Given the description of an element on the screen output the (x, y) to click on. 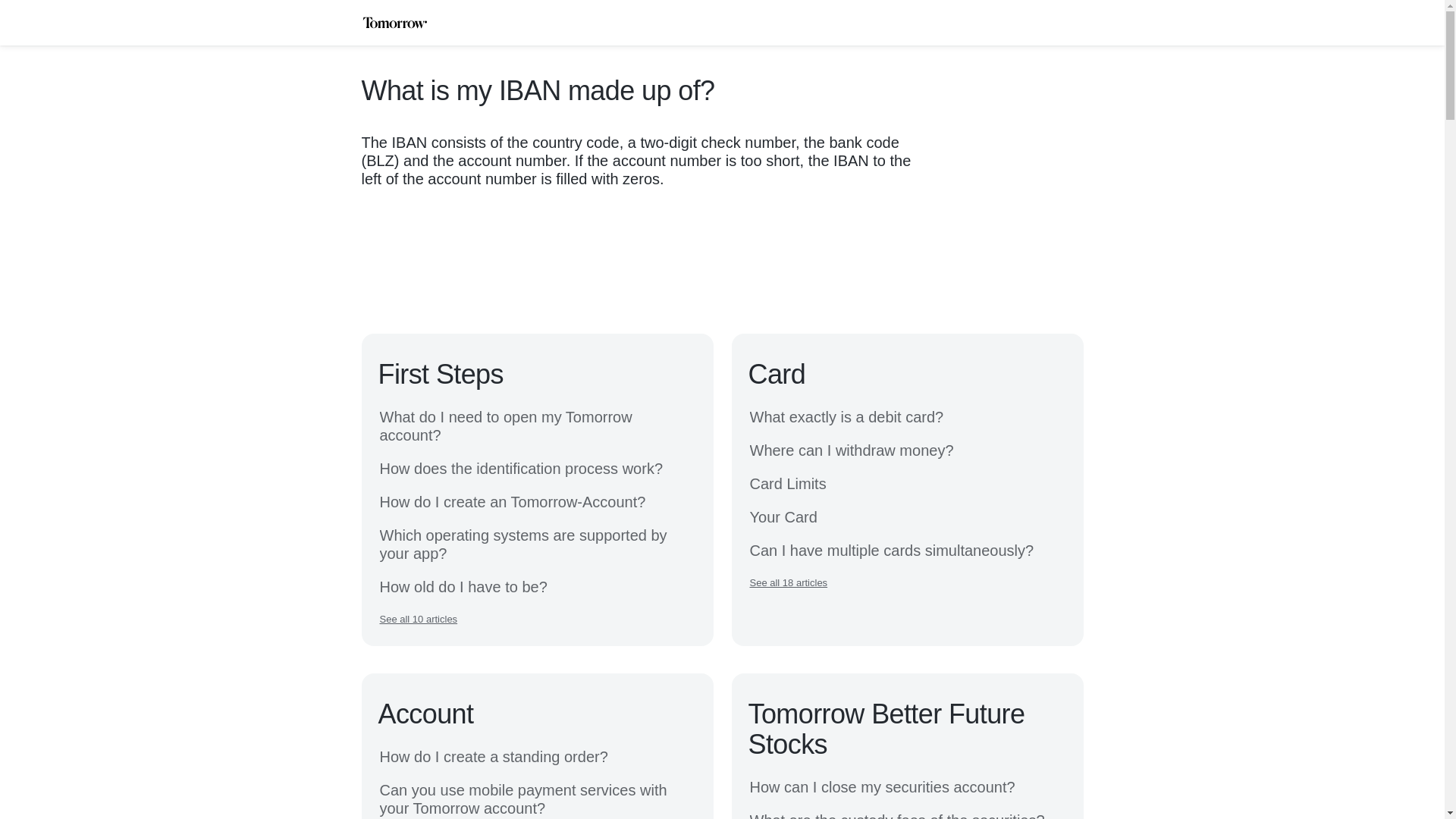
Account (425, 714)
See all 18 articles (788, 582)
Can I have multiple cards simultaneously? (891, 550)
Account (425, 714)
See all 10 articles (417, 618)
Which operating systems are supported by your app? (536, 544)
First Steps (439, 374)
Card Limits (787, 484)
How do I create an Tomorrow-Account? (511, 502)
Card (776, 374)
